Given the description of an element on the screen output the (x, y) to click on. 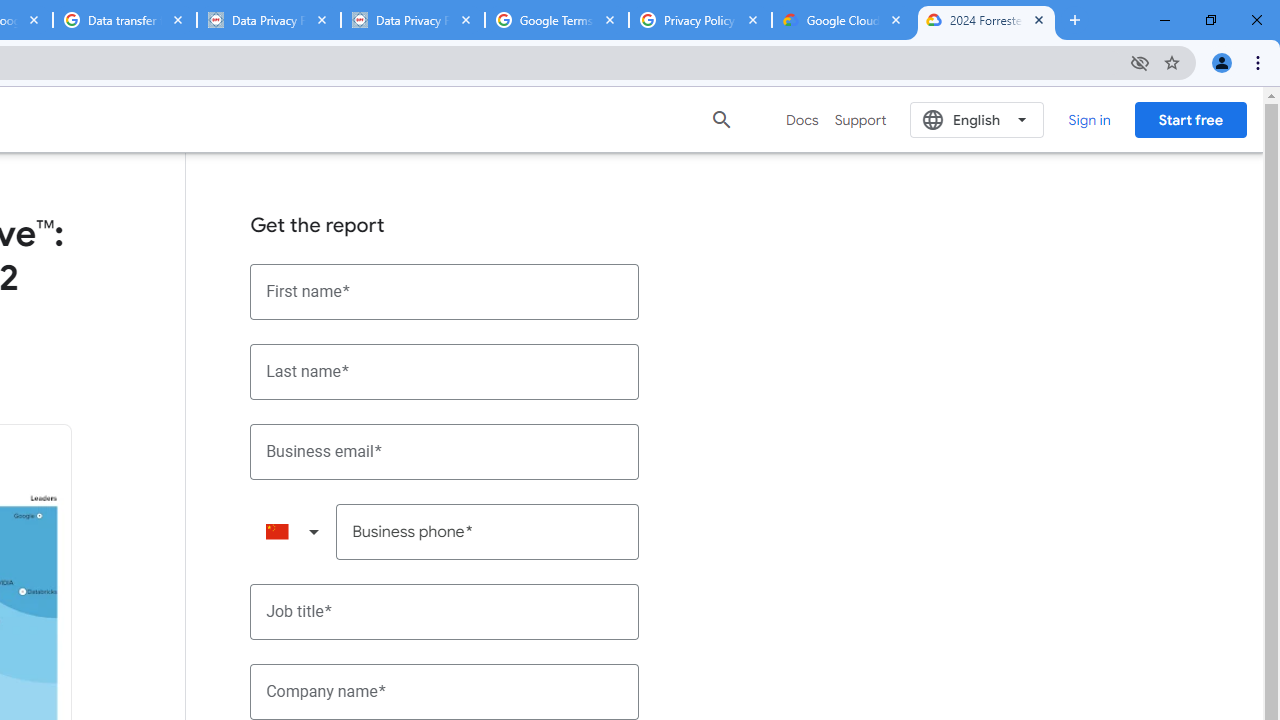
Calling Code (+86) (292, 531)
Data Privacy Framework (412, 20)
Company name* (445, 691)
Start free (1190, 119)
Support (860, 119)
Business phone* (488, 531)
Job title* (445, 611)
